Given the description of an element on the screen output the (x, y) to click on. 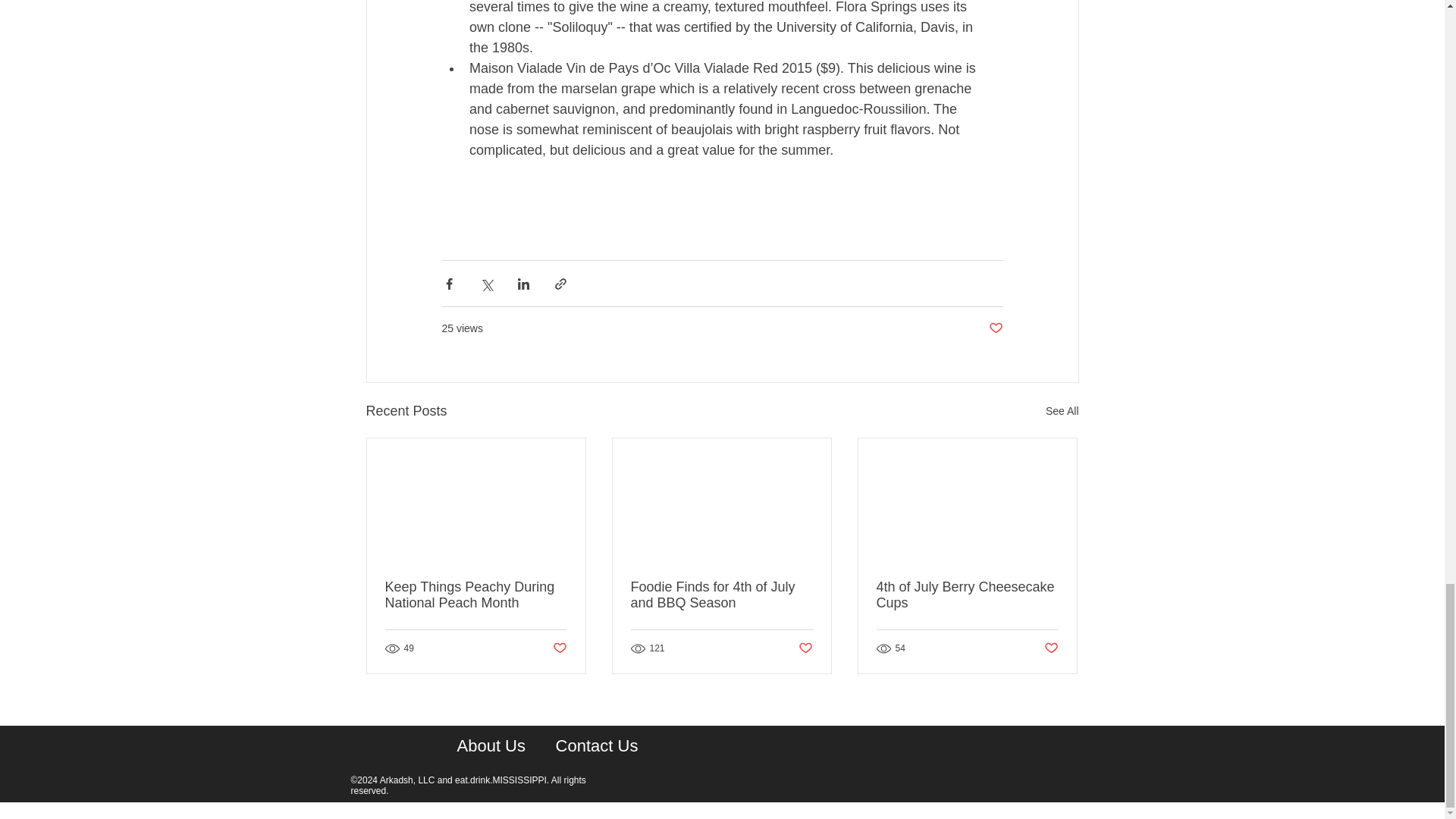
Foodie Finds for 4th of July and BBQ Season (721, 594)
See All (1061, 411)
Post not marked as liked (995, 328)
Post not marked as liked (558, 647)
Keep Things Peachy During National Peach Month (476, 594)
